Given the description of an element on the screen output the (x, y) to click on. 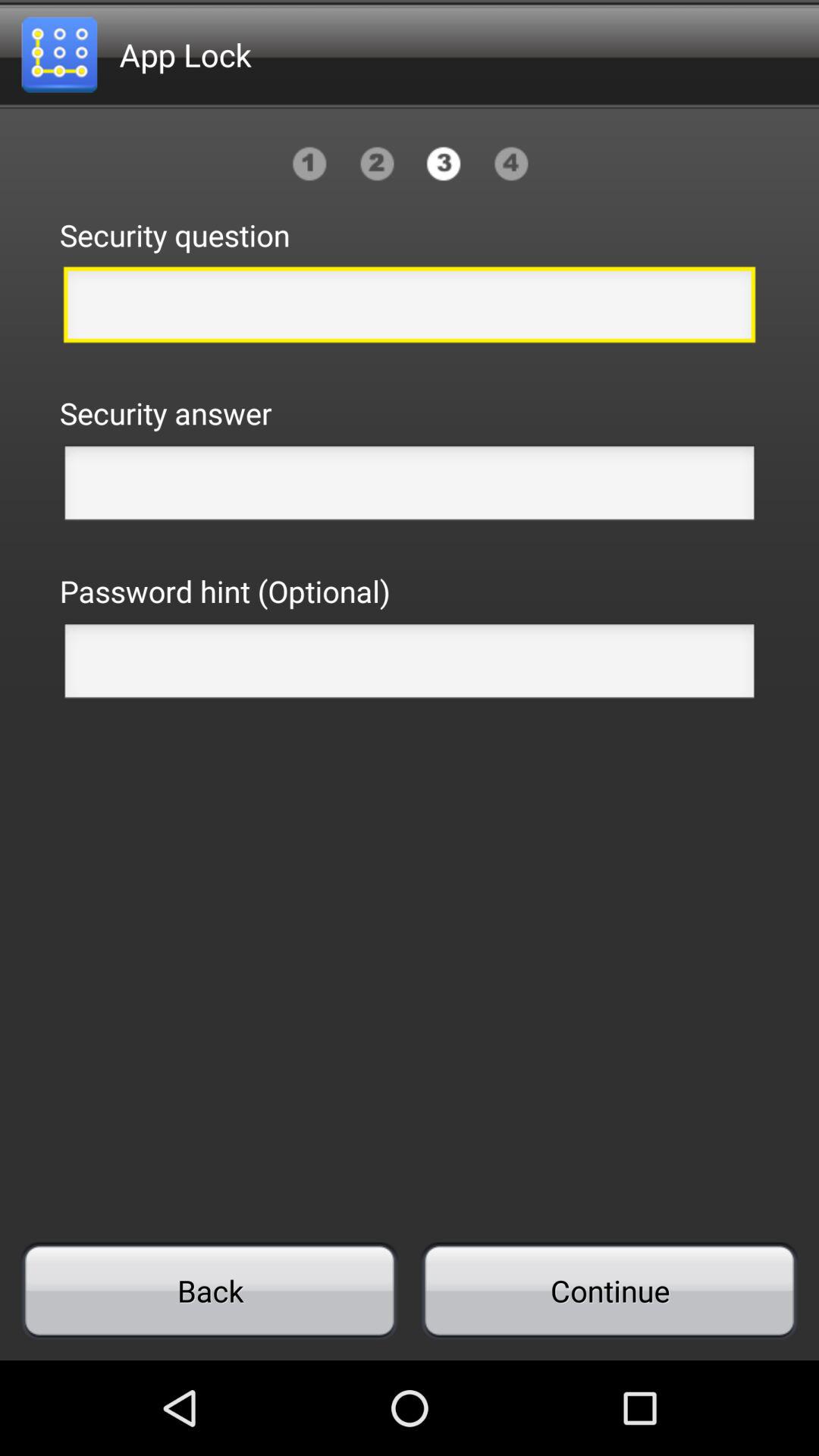
open icon at the bottom right corner (609, 1290)
